Given the description of an element on the screen output the (x, y) to click on. 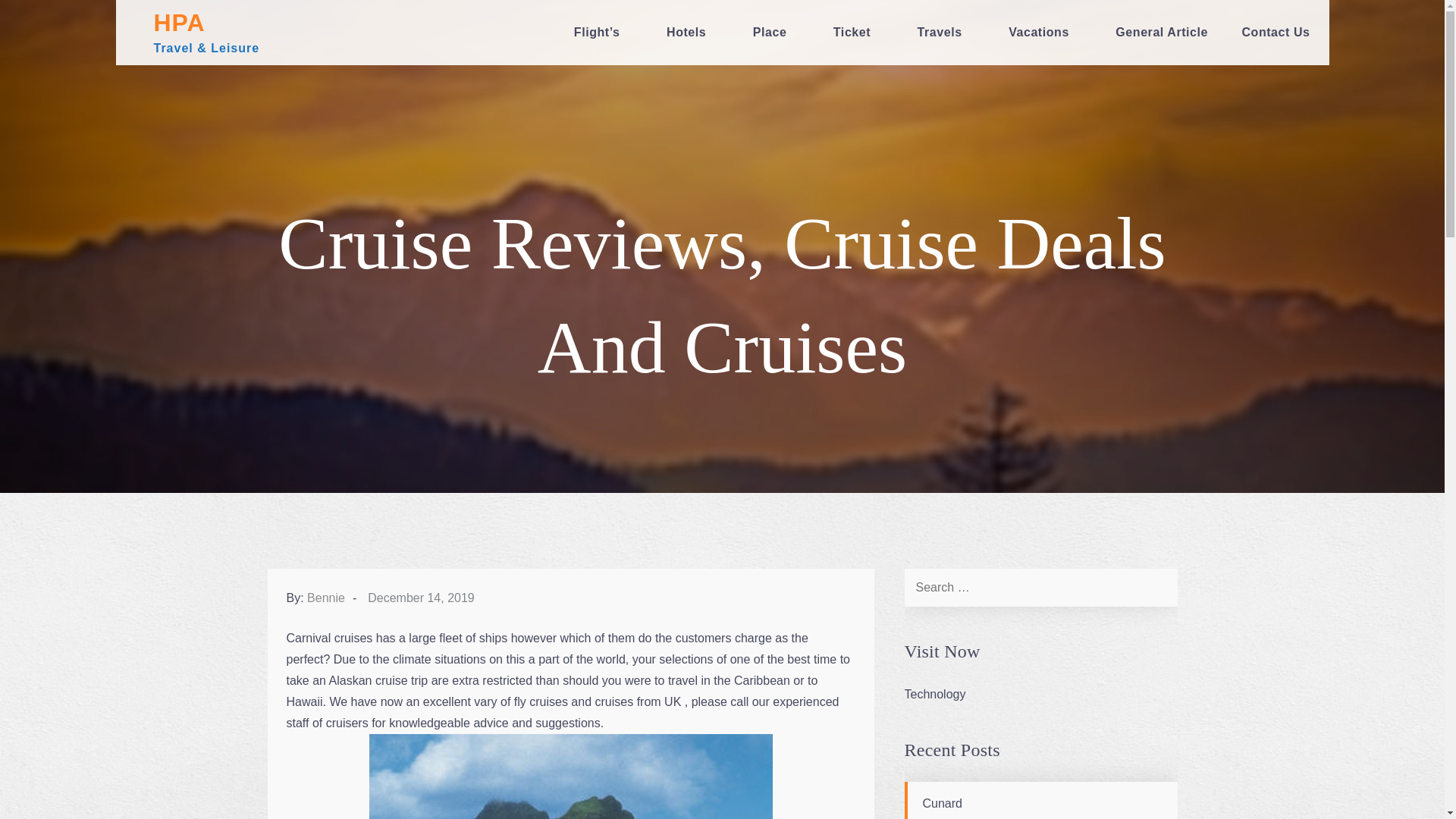
Search (1157, 587)
Contact Us (1274, 32)
Technology (934, 694)
Hotels (691, 32)
Place (776, 32)
Travels (946, 32)
General Article (1161, 32)
HPA (178, 22)
Bennie (326, 597)
